Given the description of an element on the screen output the (x, y) to click on. 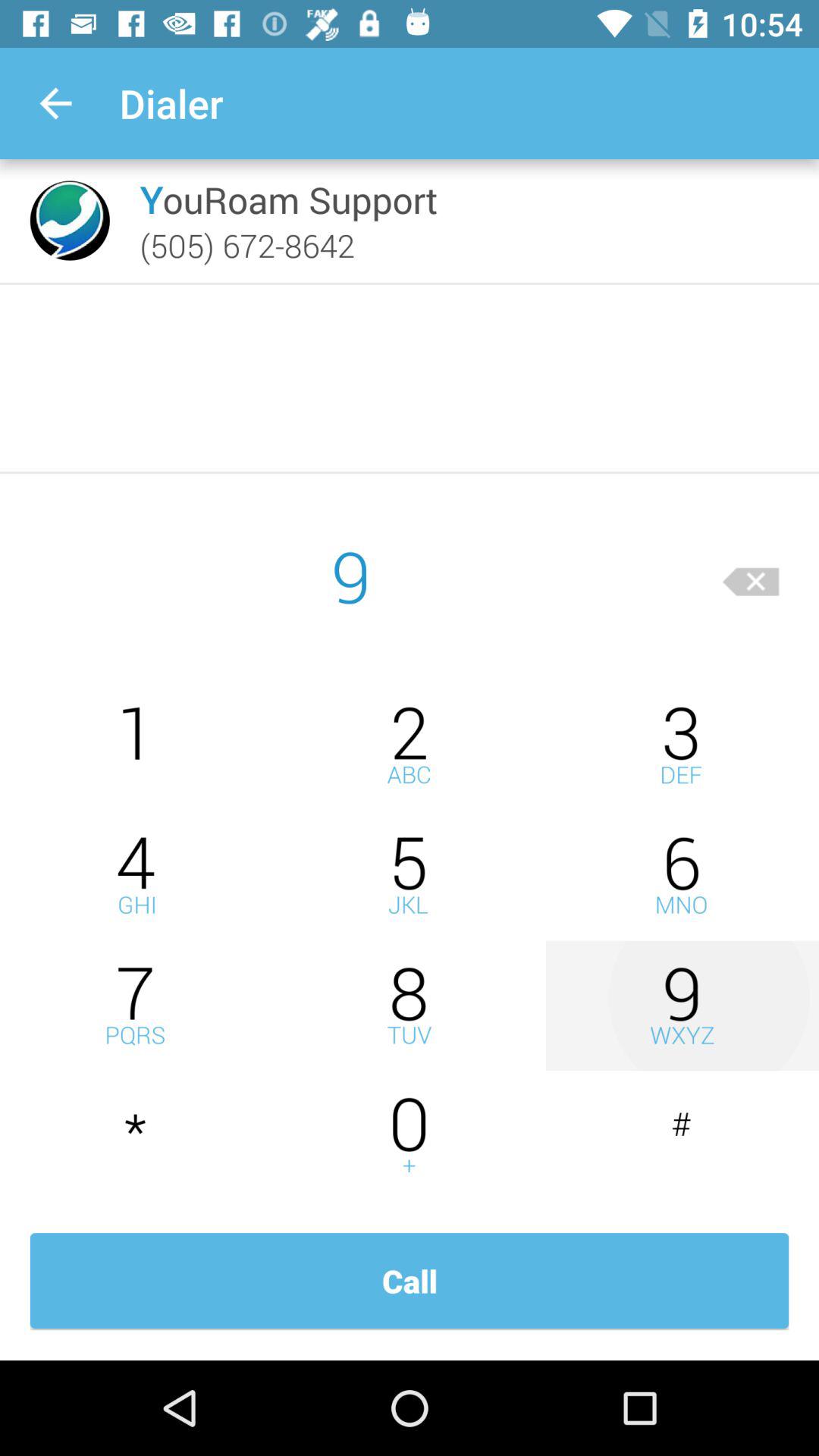
click to zero (409, 1135)
